Given the description of an element on the screen output the (x, y) to click on. 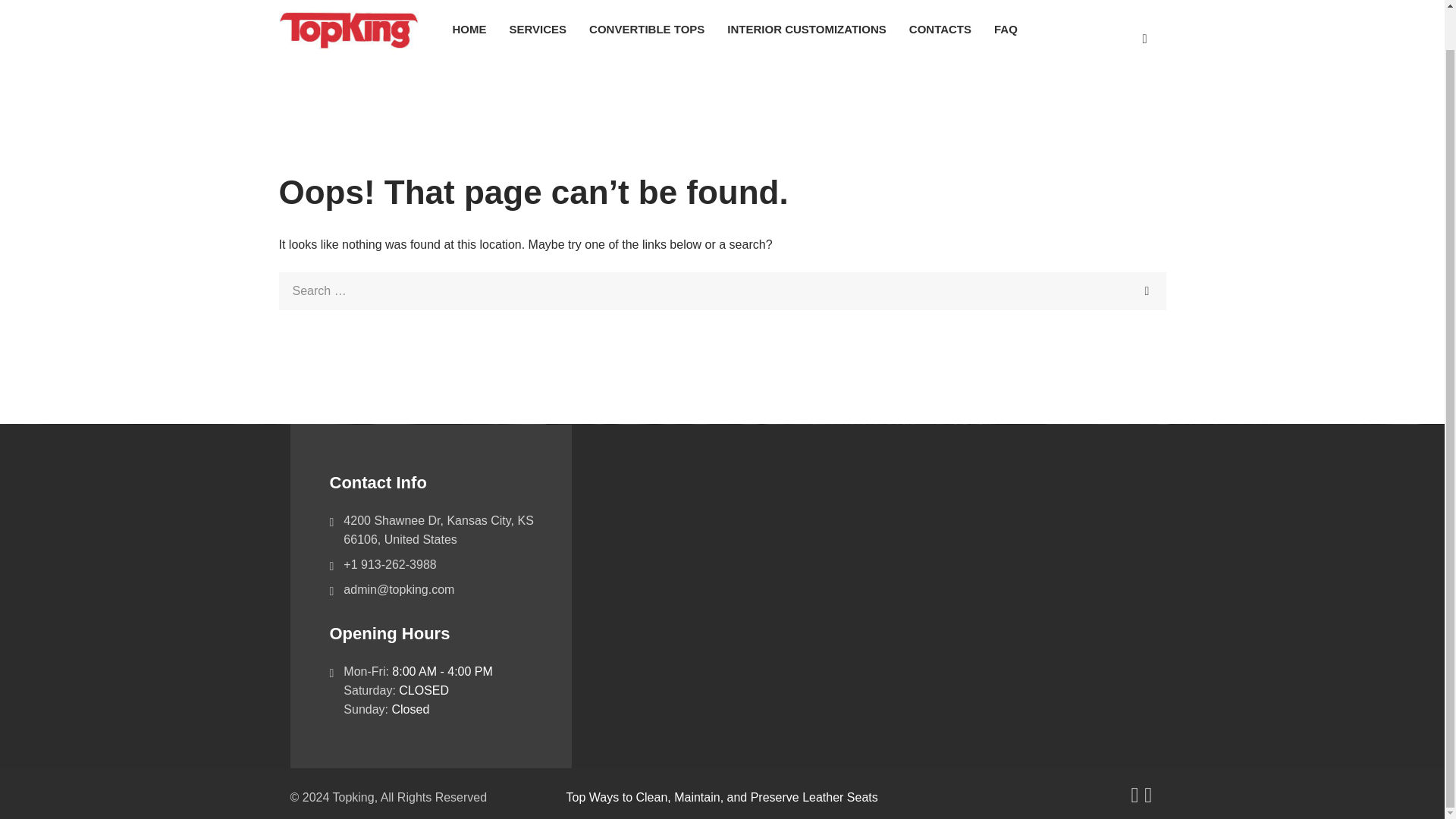
HOME (469, 28)
FAQ (1005, 28)
SERVICES (537, 28)
CONTACTS (940, 28)
INTERIOR CUSTOMIZATIONS (806, 28)
CONVERTIBLE TOPS (647, 28)
